Given the description of an element on the screen output the (x, y) to click on. 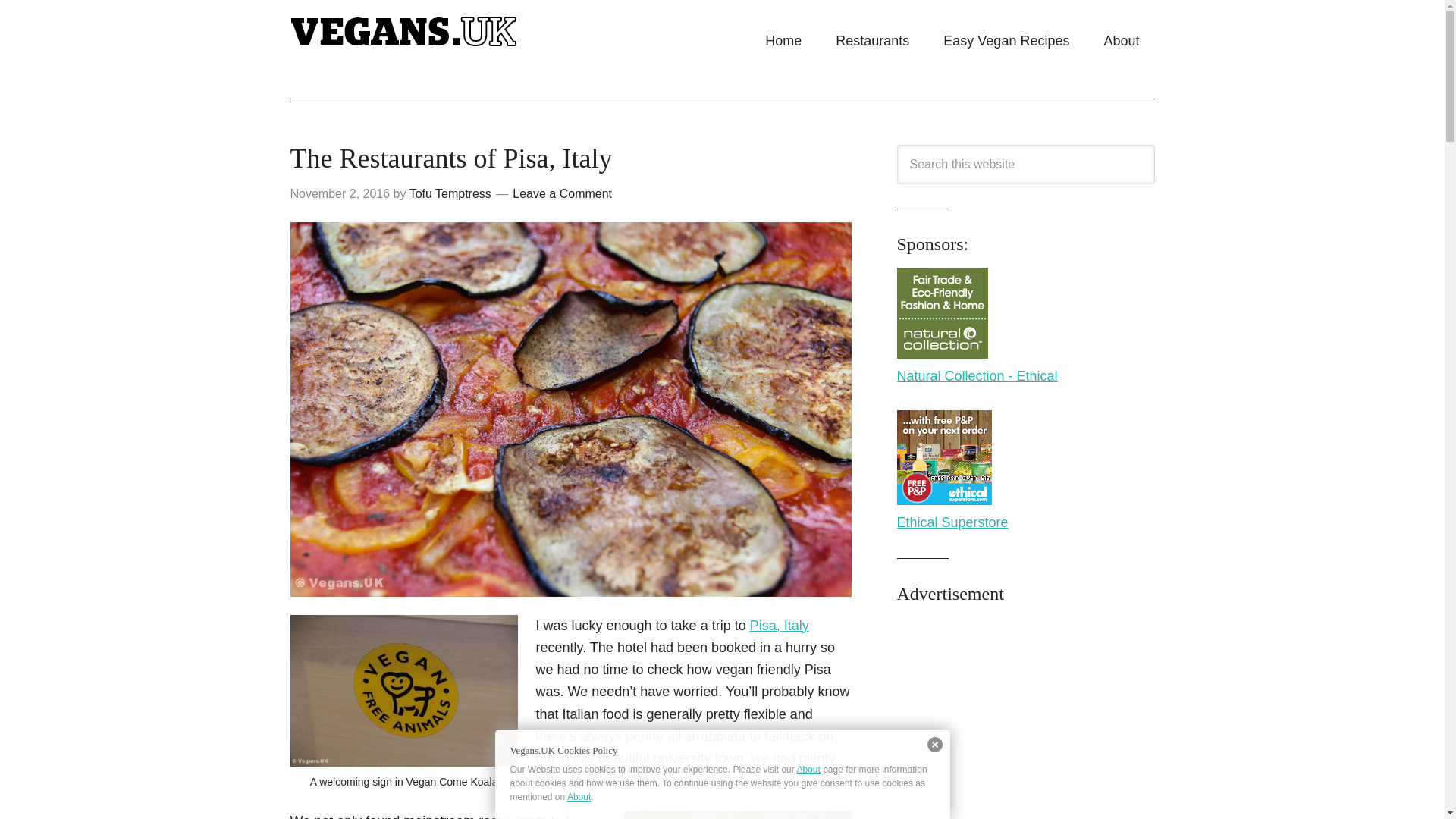
Leave a Comment (561, 193)
The Restaurants of Pisa, Italy (450, 158)
Easy Vegan Recipes (1006, 40)
Home (782, 40)
Pisa, Italy (779, 625)
About (1120, 40)
Tofu Temptress (450, 193)
Restaurants (872, 40)
